Given the description of an element on the screen output the (x, y) to click on. 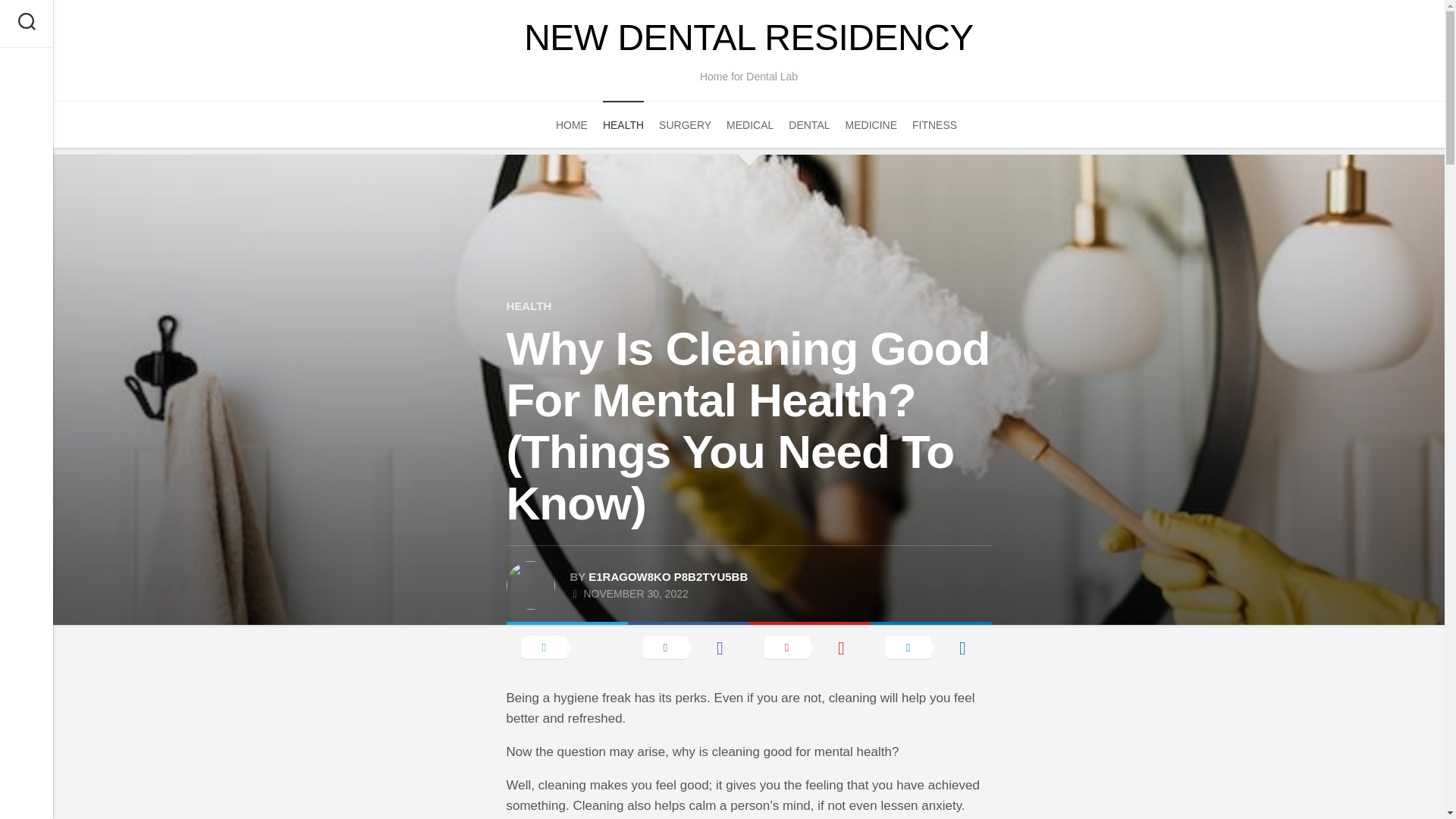
SURGERY (685, 124)
NEW DENTAL RESIDENCY (748, 37)
HEALTH (622, 124)
Posts by e1ragow8ko p8b2tyu5bb (668, 576)
DENTAL (809, 124)
FITNESS (934, 124)
HOME (572, 124)
Share on Facebook (688, 646)
HEALTH (528, 305)
MEDICINE (870, 124)
Share on X (566, 646)
E1RAGOW8KO P8B2TYU5BB (668, 576)
Share on Pinterest (809, 646)
MEDICAL (749, 124)
Share on LinkedIn (930, 646)
